Given the description of an element on the screen output the (x, y) to click on. 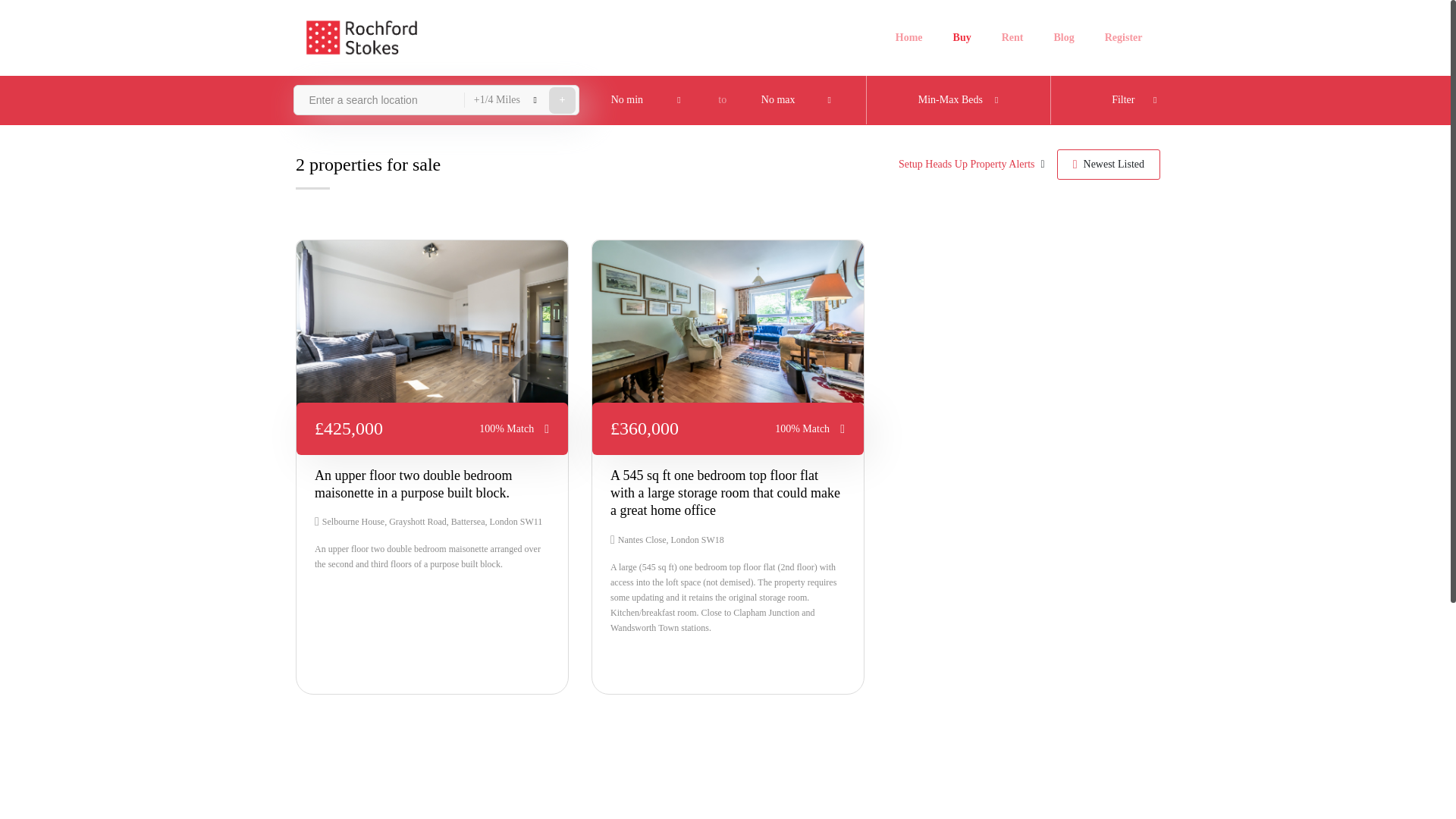
Blog (1063, 37)
Blog (908, 37)
Blog (1063, 37)
Setup Heads Up Property Alerts (966, 164)
Buy (962, 37)
Home (908, 37)
Rent (1013, 37)
Register (1123, 37)
